Given the description of an element on the screen output the (x, y) to click on. 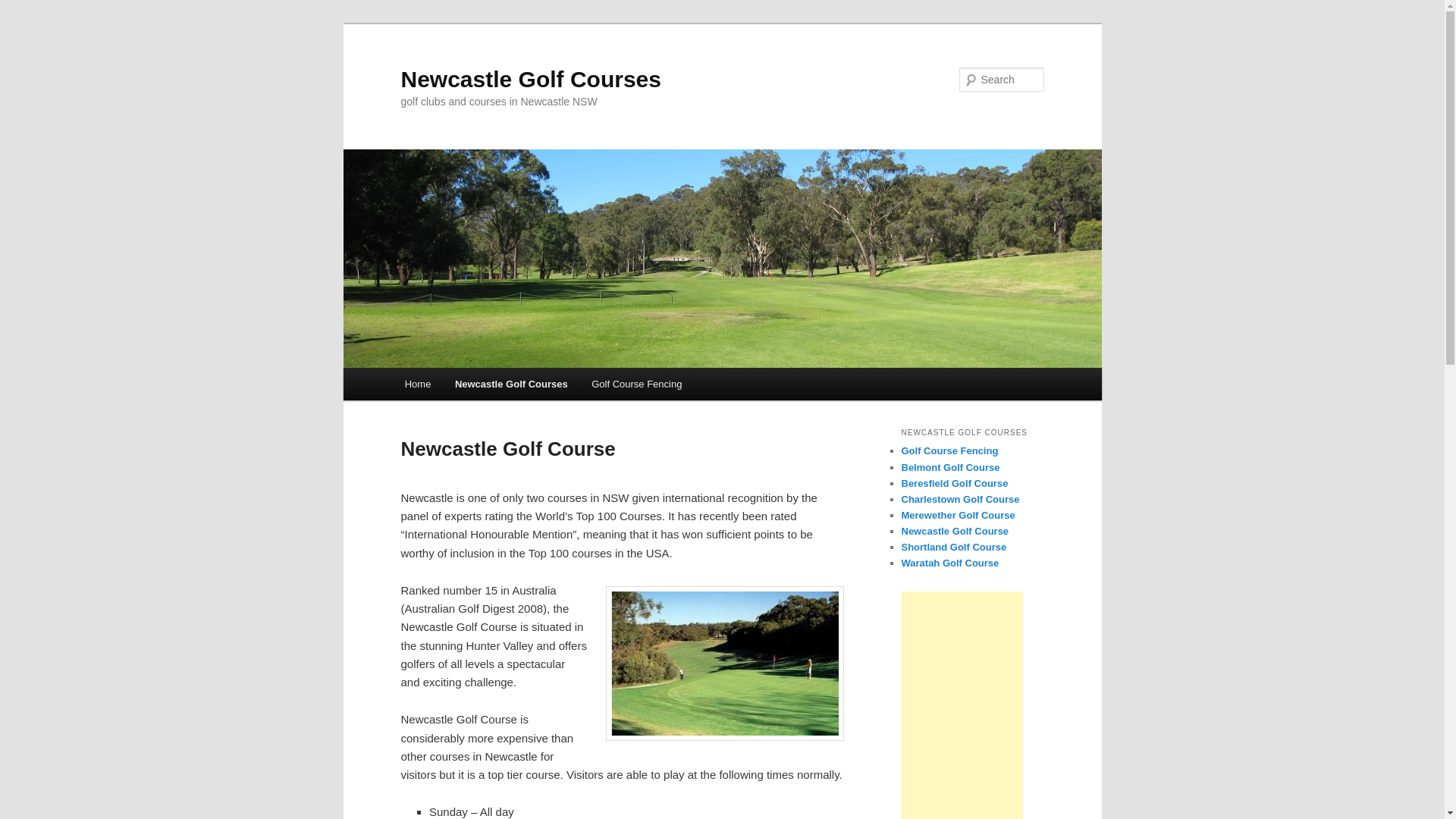
Newcastle Golf Courses Element type: text (510, 383)
Search Element type: text (24, 8)
Golf Course Fencing Element type: text (636, 383)
Newcastle Golf Courses Element type: text (530, 78)
Golf Course Fencing Element type: text (948, 450)
newcastle golf course Element type: hover (724, 663)
Charlestown Golf Course Element type: text (959, 499)
Shortland Golf Course Element type: text (953, 546)
Belmont Golf Course Element type: text (949, 467)
Newcastle Golf Course Element type: text (954, 530)
Merewether Golf Course Element type: text (957, 514)
Skip to primary content Element type: text (22, 22)
Beresfield Golf Course Element type: text (953, 483)
Home Element type: text (417, 383)
Waratah Golf Course Element type: text (949, 562)
